Given the description of an element on the screen output the (x, y) to click on. 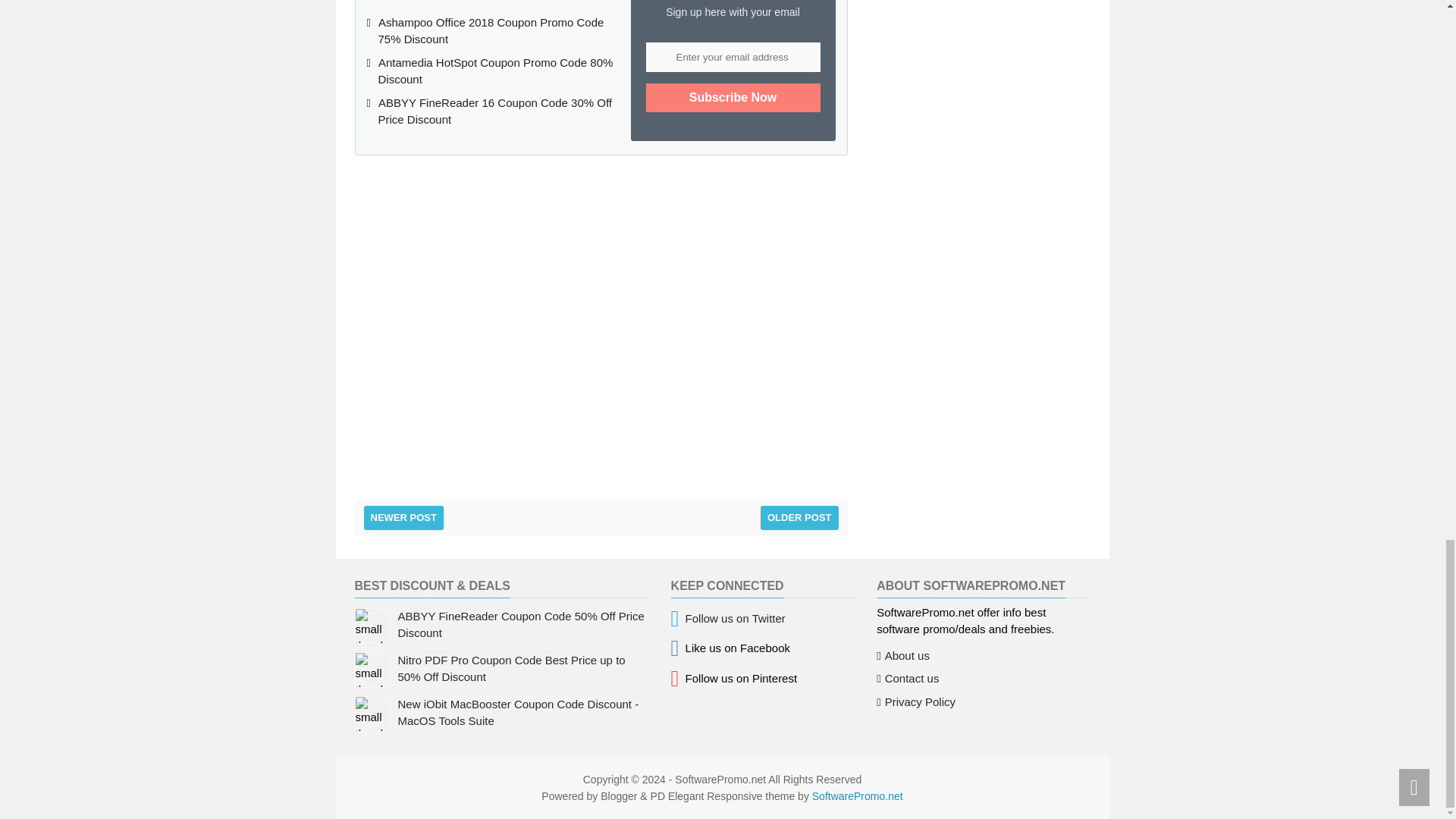
OLDER POST (799, 517)
Newer Post (404, 517)
Subscribe Now (733, 97)
Older Post (799, 517)
NEWER POST (404, 517)
Subscribe Now (733, 97)
